Given the description of an element on the screen output the (x, y) to click on. 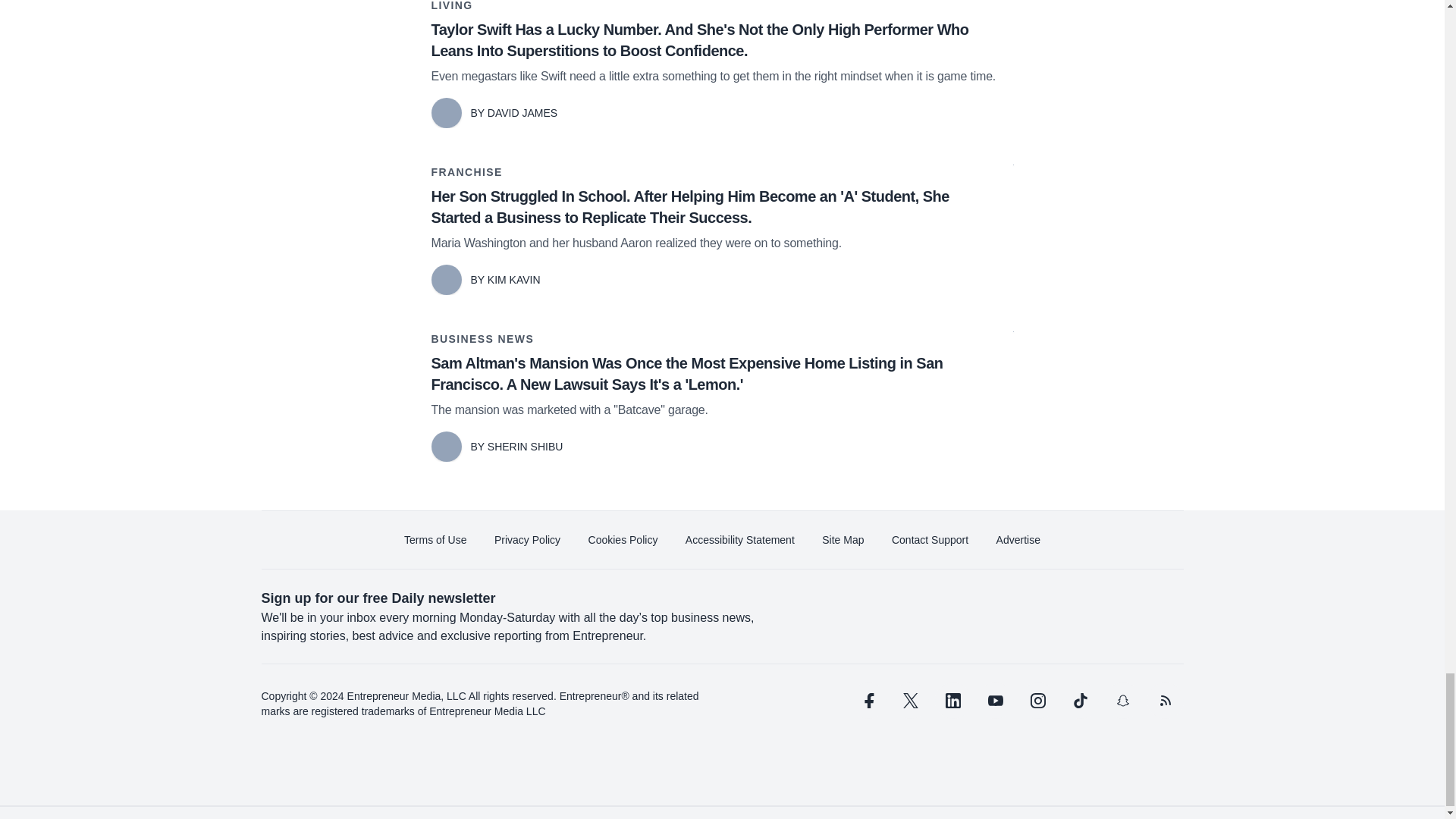
facebook (866, 700)
youtube (994, 700)
snapchat (1121, 700)
twitter (909, 700)
tiktok (1079, 700)
linkedin (952, 700)
instagram (1037, 700)
